Given the description of an element on the screen output the (x, y) to click on. 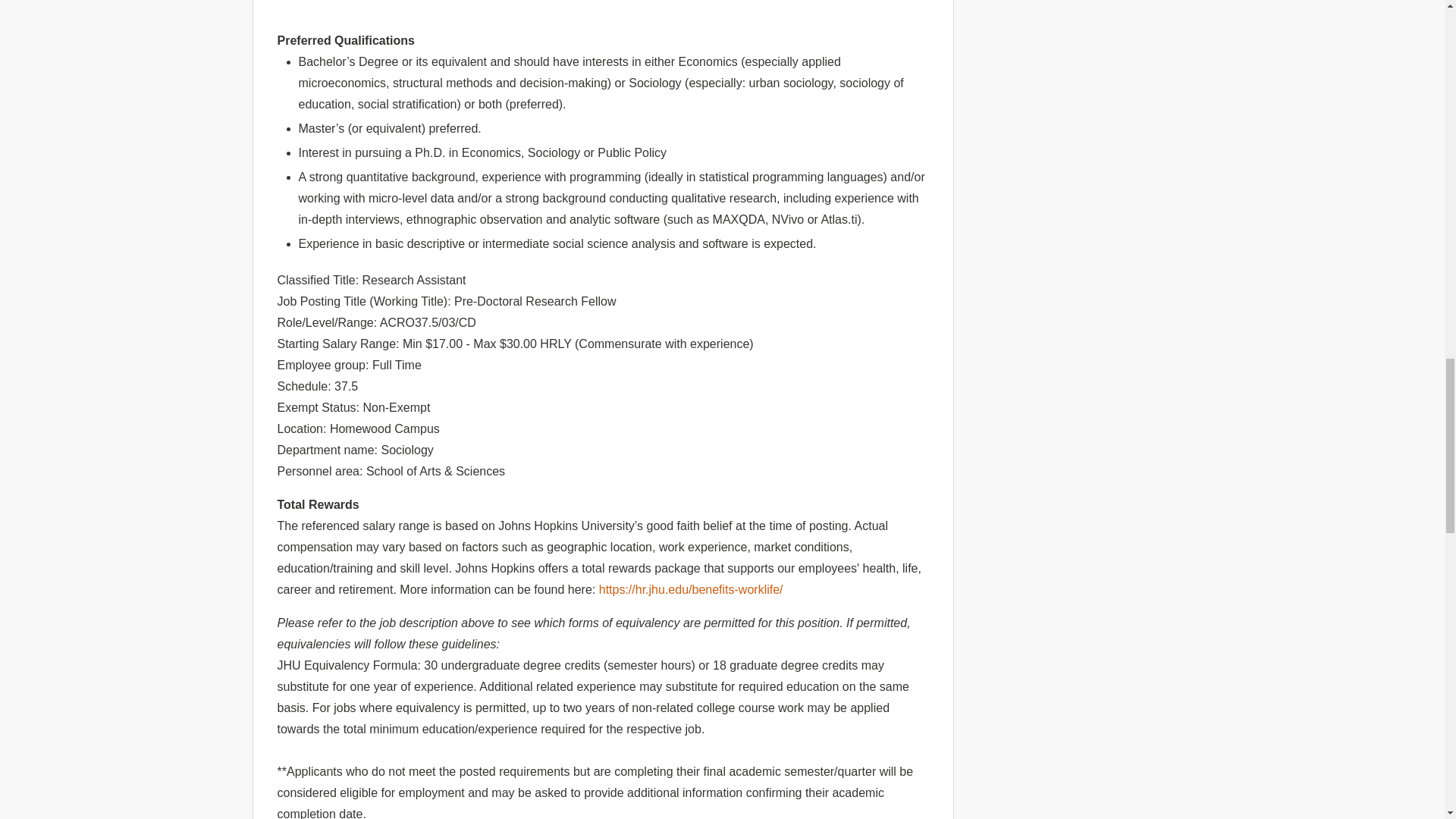
Follow link (690, 589)
